Given the description of an element on the screen output the (x, y) to click on. 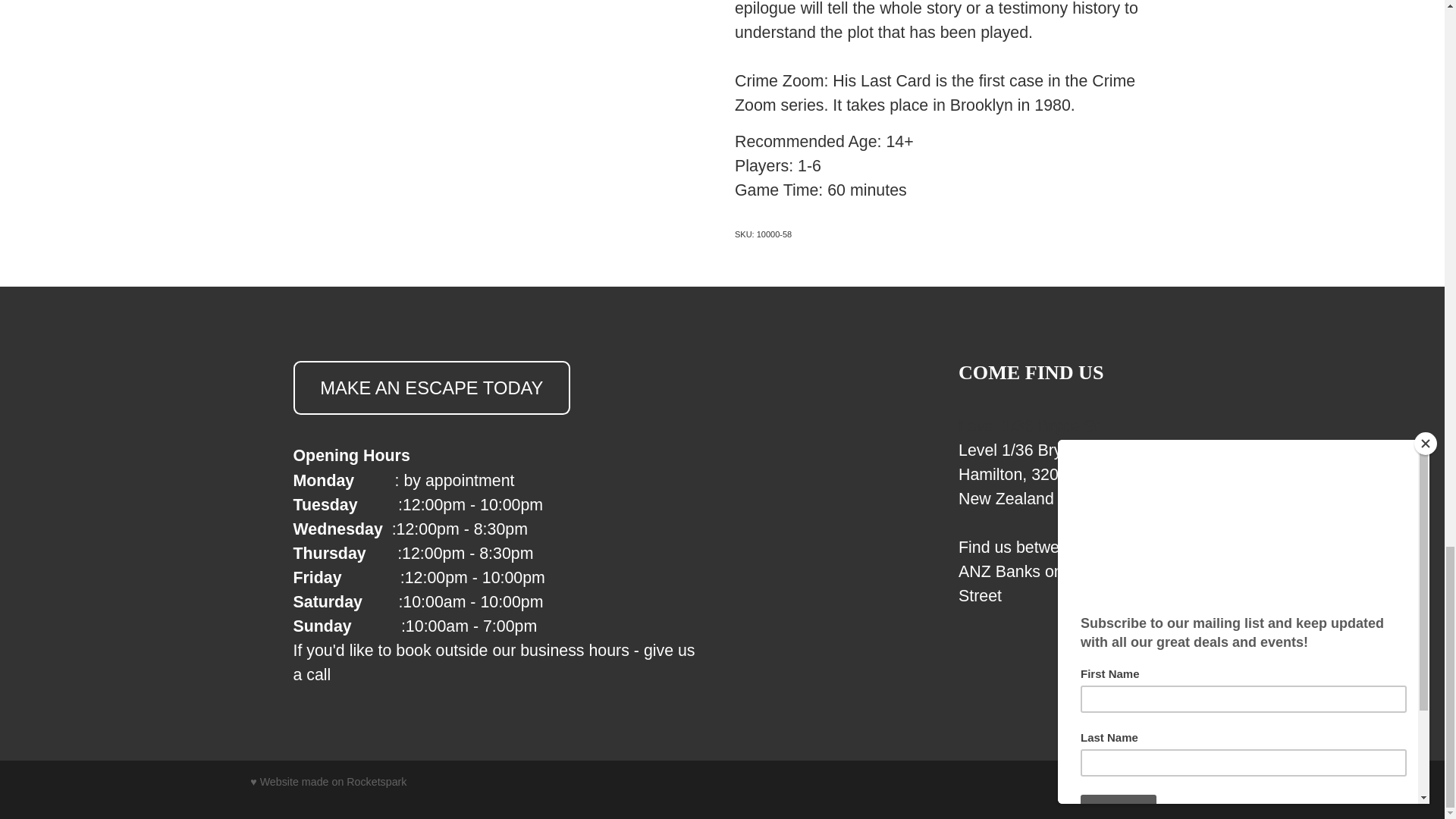
MAKE AN ESCAPE TODAY (431, 387)
